Given the description of an element on the screen output the (x, y) to click on. 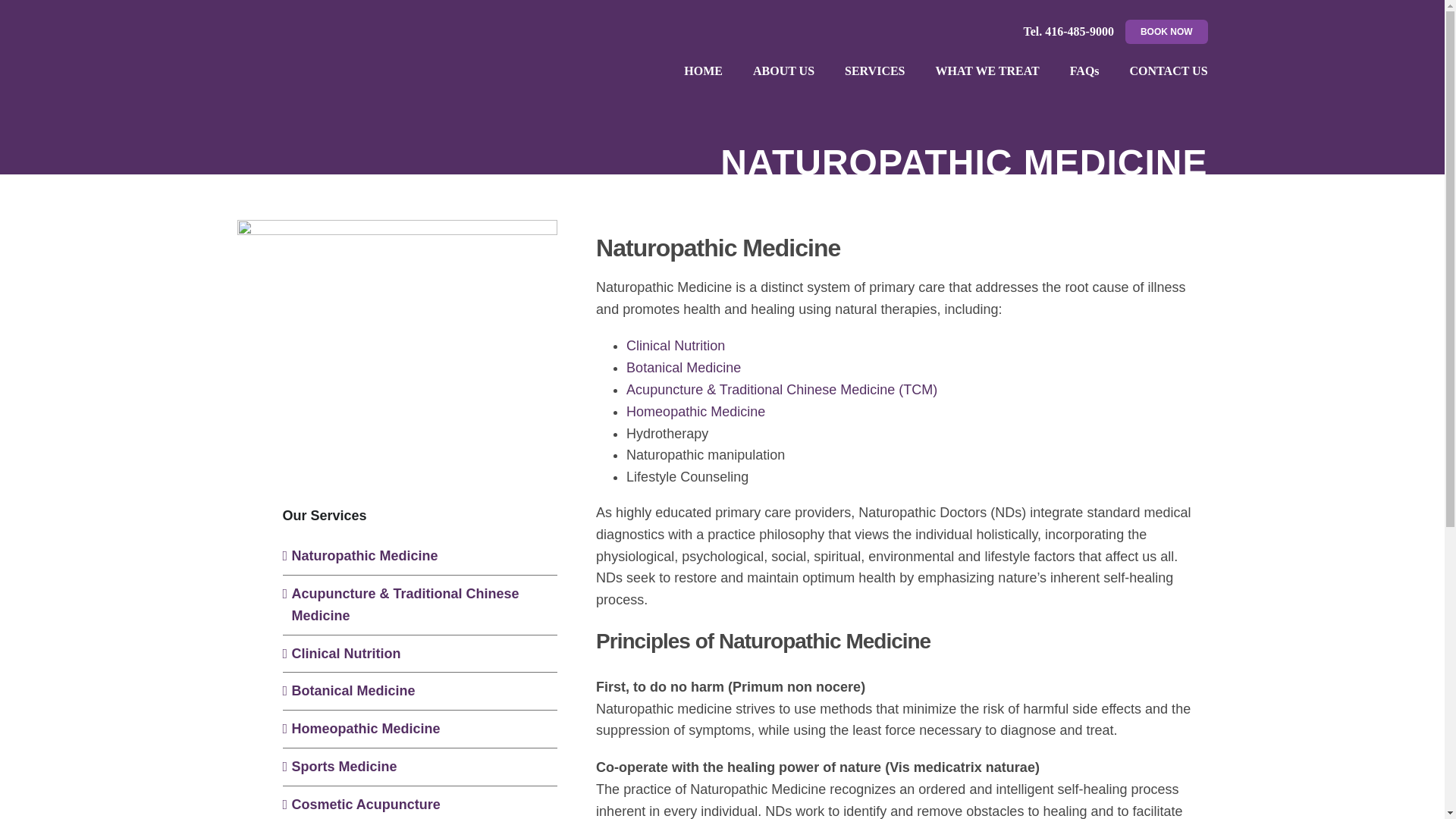
SERVICES (874, 71)
HOME (703, 71)
ABOUT US (782, 71)
Clinical Nutrition (345, 653)
Clinical Nutrition (675, 345)
Homeopathic Medicine (695, 411)
Naturopathic Medicine (364, 555)
BOOK NOW (1166, 31)
Botanical Medicine (352, 690)
Botanical Medicine (683, 367)
